Given the description of an element on the screen output the (x, y) to click on. 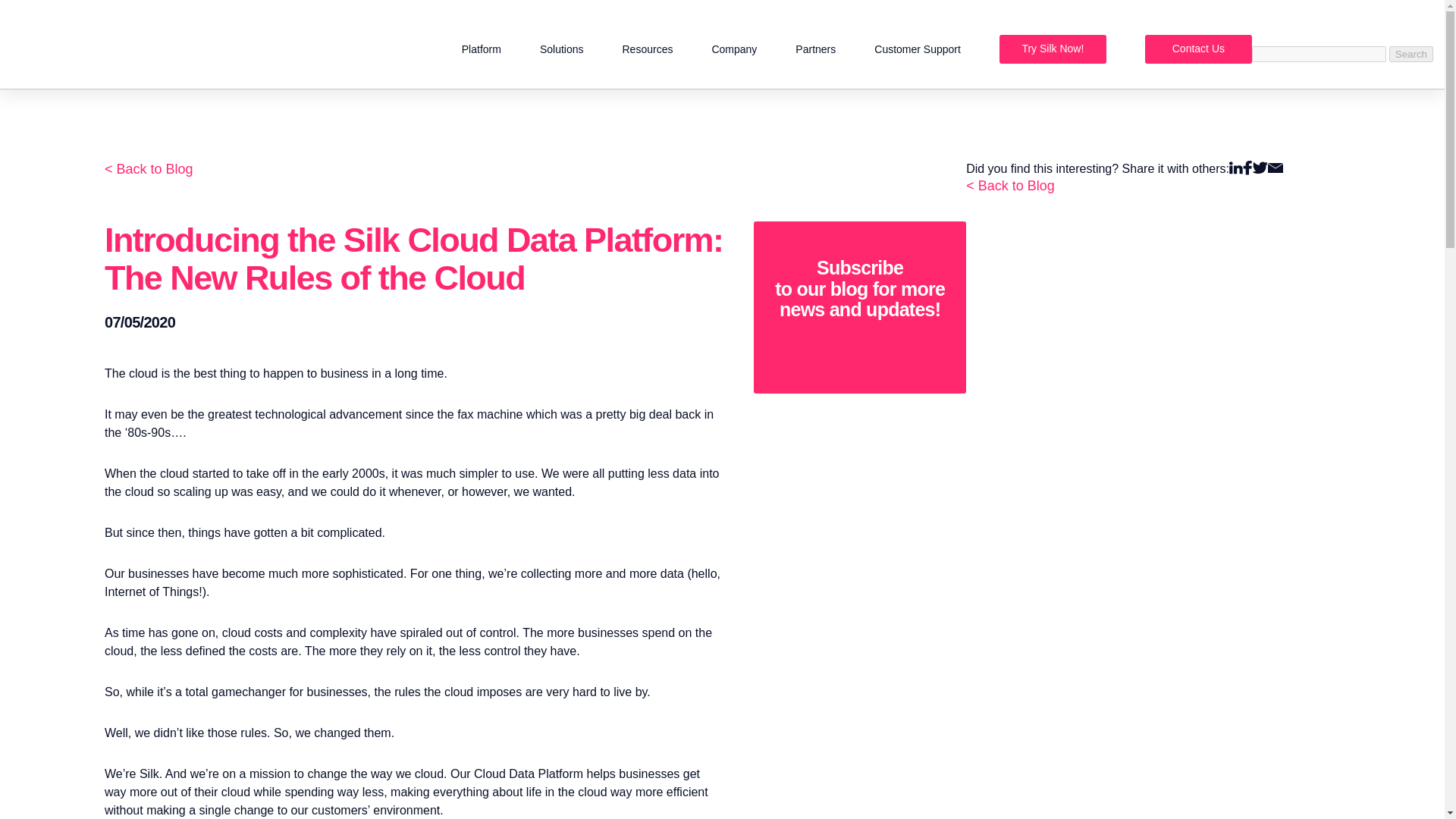
Resources (646, 48)
Platform (480, 48)
Search (1410, 53)
Solutions (561, 48)
